Given the description of an element on the screen output the (x, y) to click on. 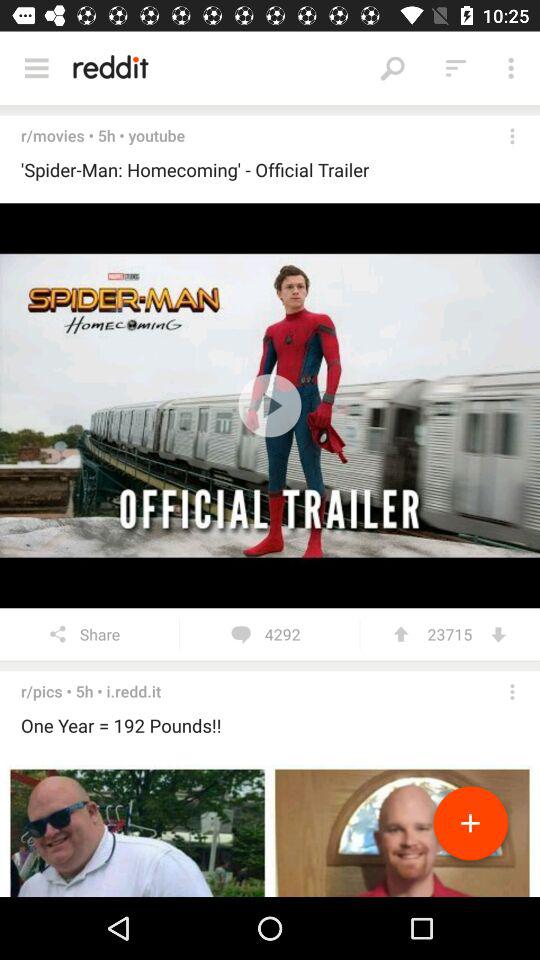
show menu options (36, 68)
